Given the description of an element on the screen output the (x, y) to click on. 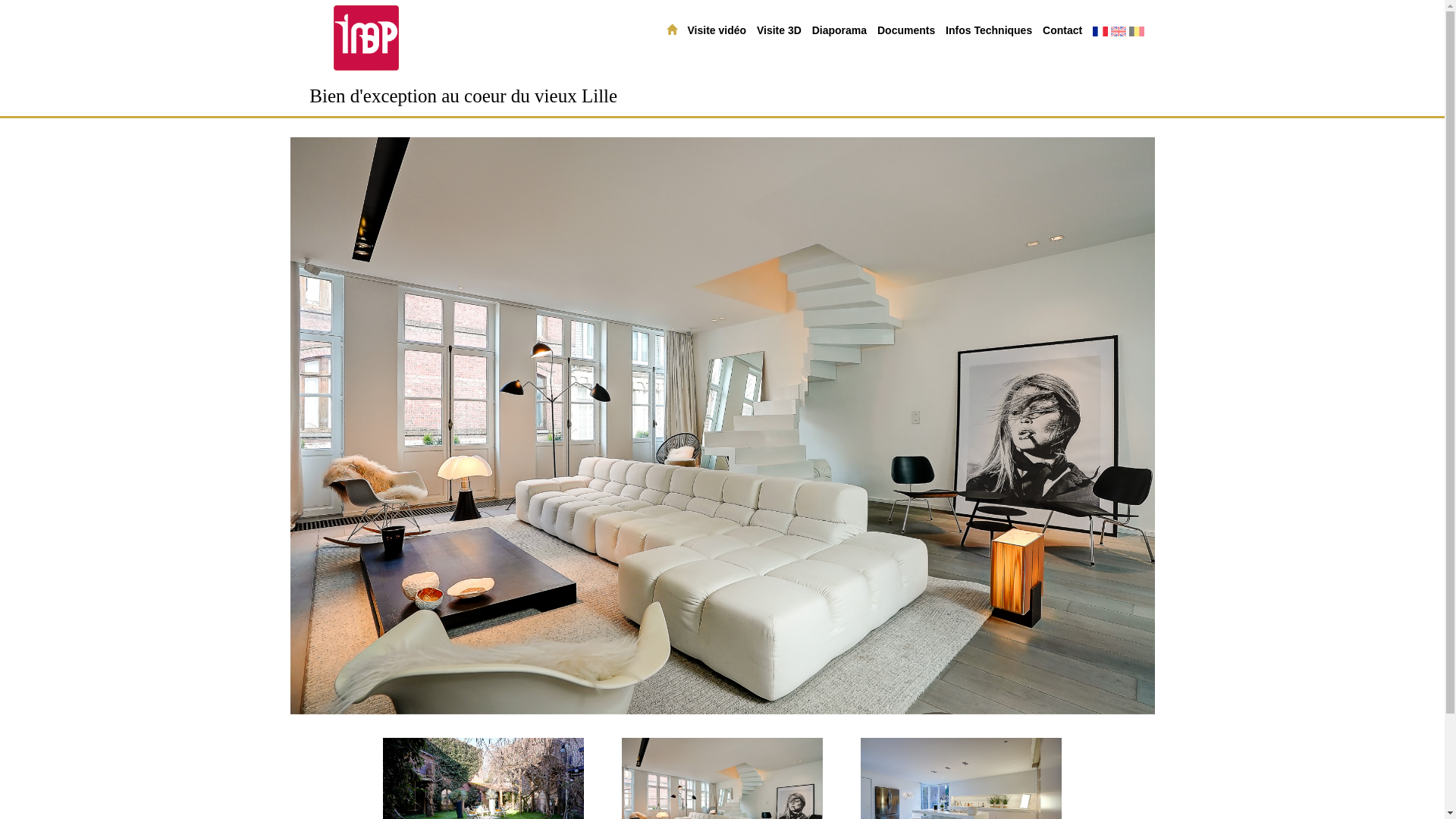
Diaporama Element type: text (839, 30)
Contact Element type: text (1062, 30)
English Element type: hover (1118, 31)
Documents Element type: text (906, 30)
Infos Techniques Element type: text (988, 30)
Nederlands Element type: hover (1136, 31)
Visite 3D Element type: text (778, 30)
